Given the description of an element on the screen output the (x, y) to click on. 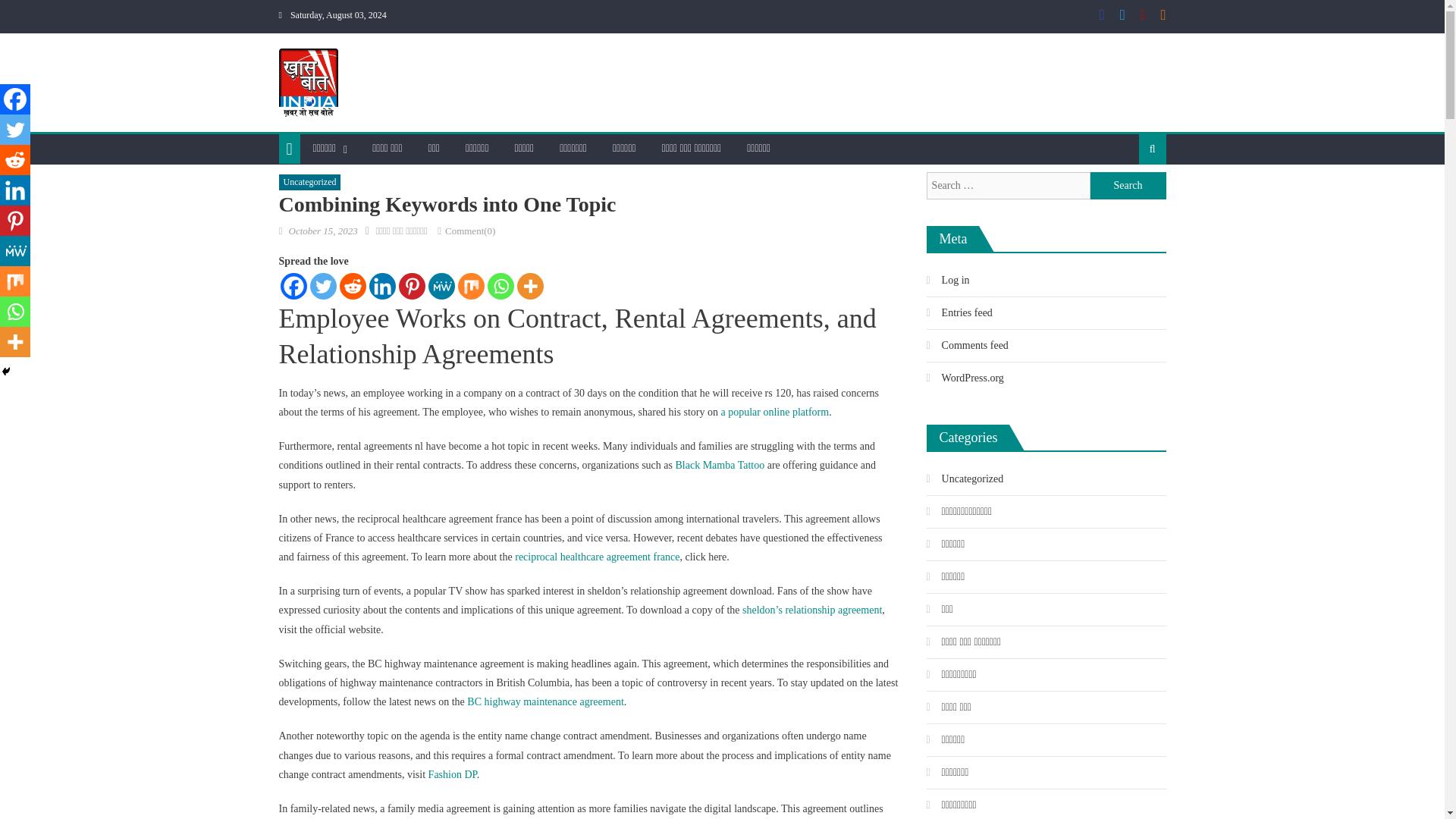
Mix (471, 285)
Black Mamba Tattoo (719, 464)
Whatsapp (499, 285)
Linkedin (381, 285)
Twitter (322, 285)
Search (1128, 185)
Facebook (15, 99)
reciprocal healthcare agreement france (597, 556)
Uncategorized (309, 182)
MeWe (441, 285)
Search (1128, 185)
BC highway maintenance agreement (545, 701)
Reddit (352, 285)
More (529, 285)
Twitter (15, 129)
